Given the description of an element on the screen output the (x, y) to click on. 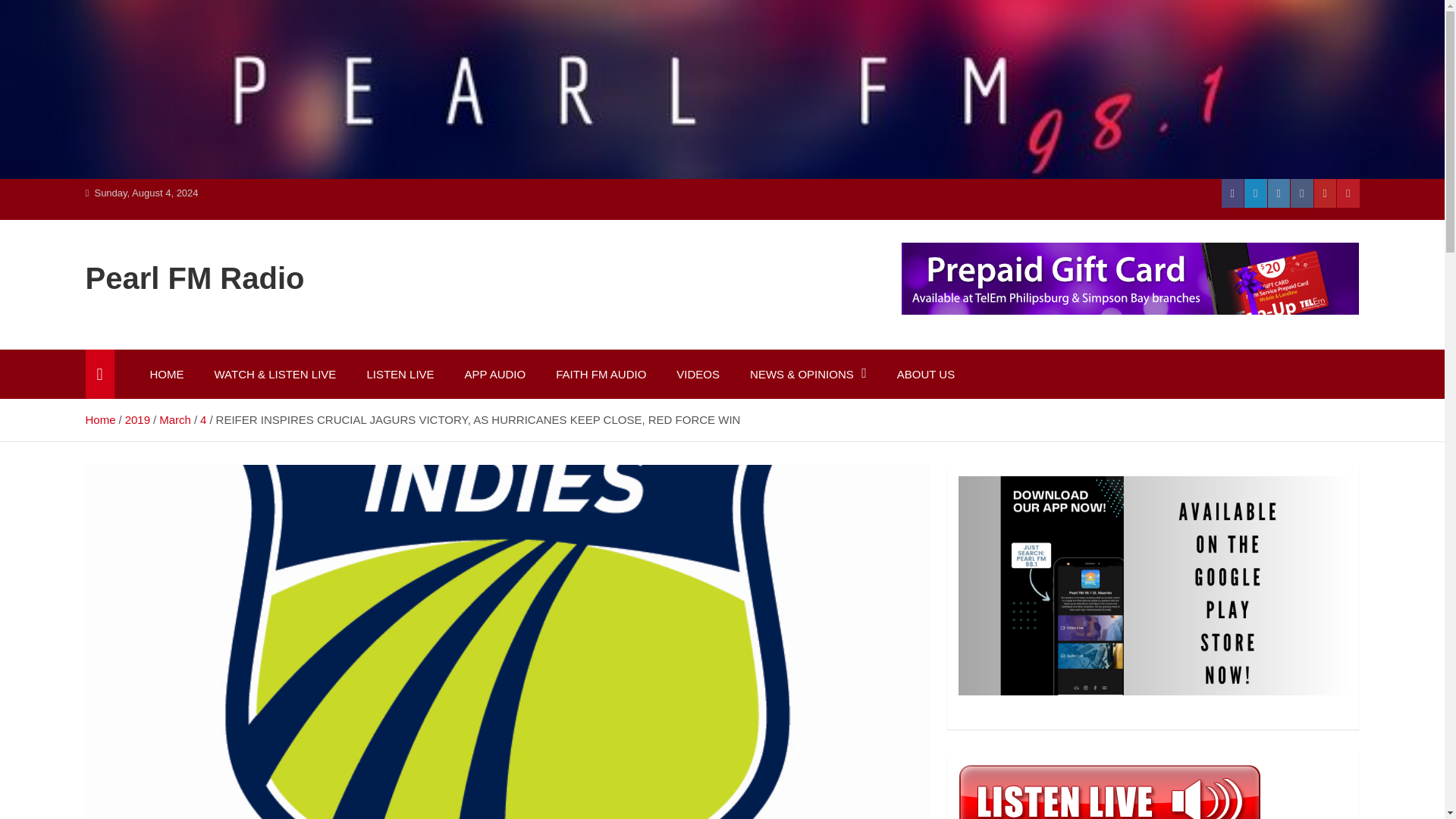
FAITH FM AUDIO (600, 374)
APP AUDIO (495, 374)
2019 (137, 419)
Pearl FM Radio (194, 277)
March (174, 419)
LISTEN LIVE (399, 374)
HOME (167, 374)
ABOUT US (925, 374)
VIDEOS (698, 374)
Home (99, 419)
